Given the description of an element on the screen output the (x, y) to click on. 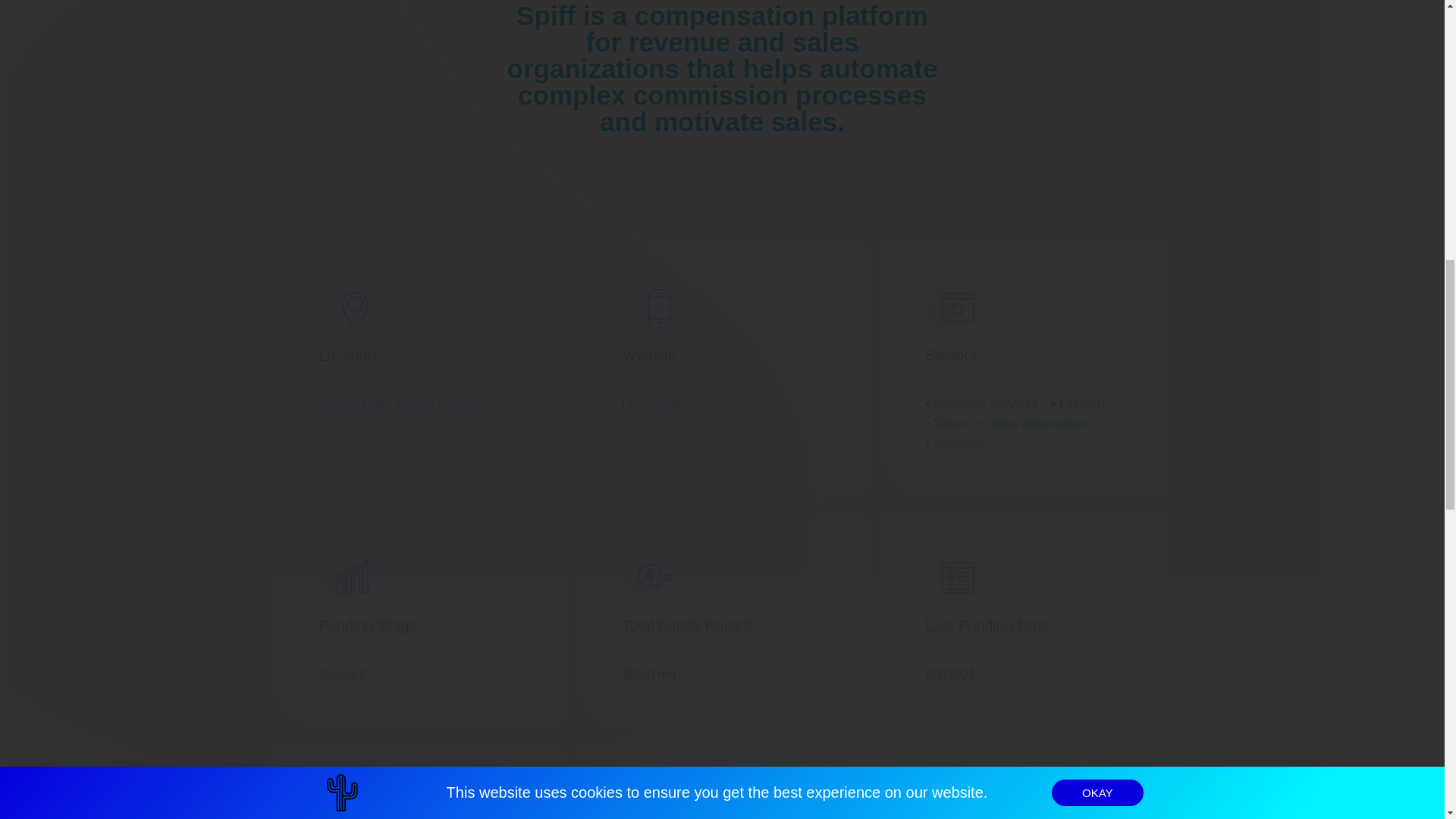
Sales (949, 423)
Software (958, 441)
Series B (342, 674)
Sandy, Utah, United States (395, 404)
FinTech (1082, 403)
Financial Services (985, 403)
Sales Automation (1036, 423)
